Given the description of an element on the screen output the (x, y) to click on. 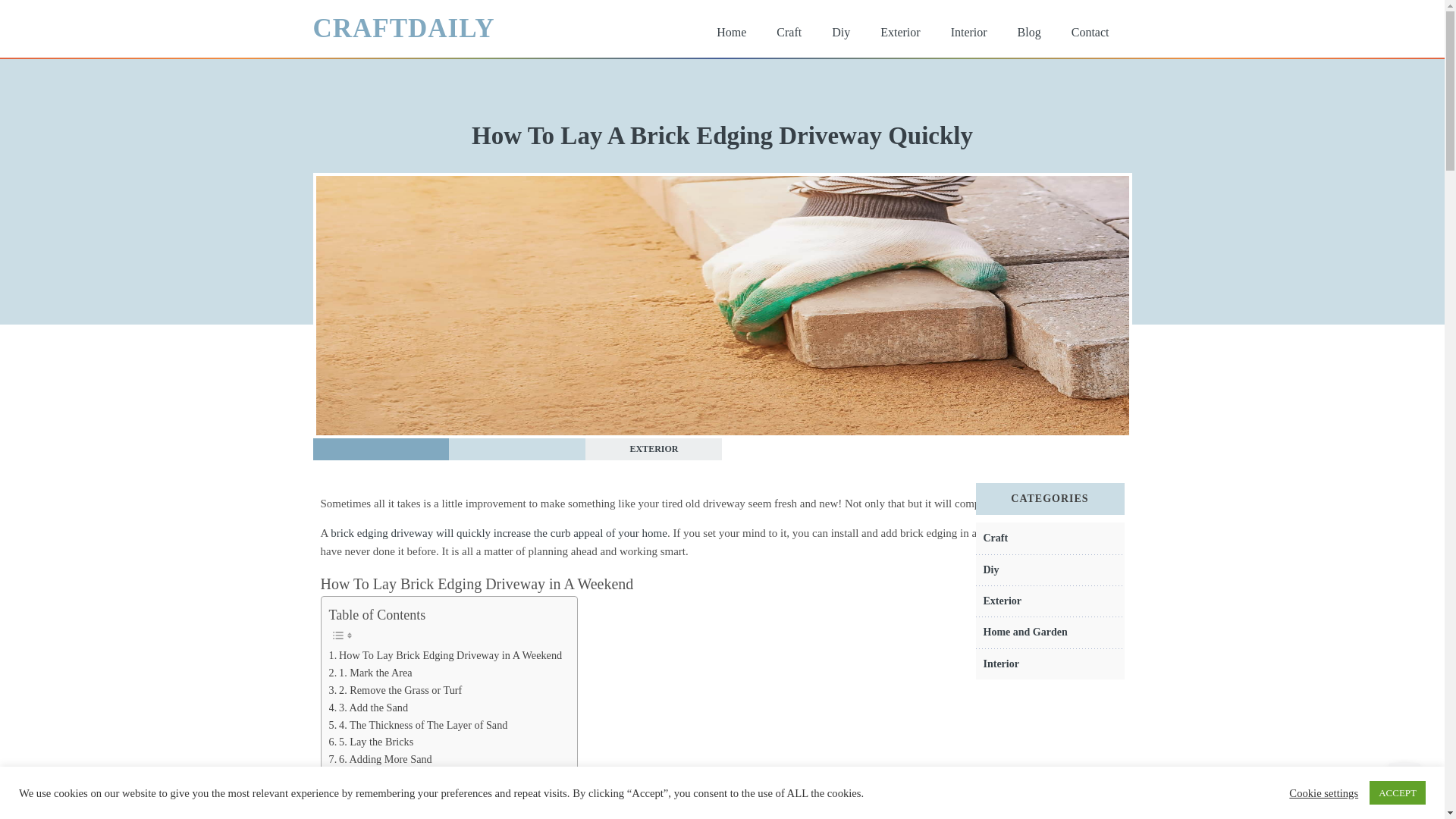
Diy (990, 569)
1. Mark the Area (370, 672)
Exterior (1002, 600)
How To Lay Brick Edging Driveway in A Weekend (445, 655)
4. The Thickness of The Layer of Sand (418, 724)
Craft (994, 537)
How To Lay Brick Edging Driveway in A Weekend (445, 655)
Home (731, 32)
Interior (969, 32)
3. Add the Sand (369, 707)
2. Remove the Grass or Turf (396, 690)
CRAFTDAILY (404, 28)
4. The Thickness of The Layer of Sand (418, 724)
Craft (788, 32)
